Given the description of an element on the screen output the (x, y) to click on. 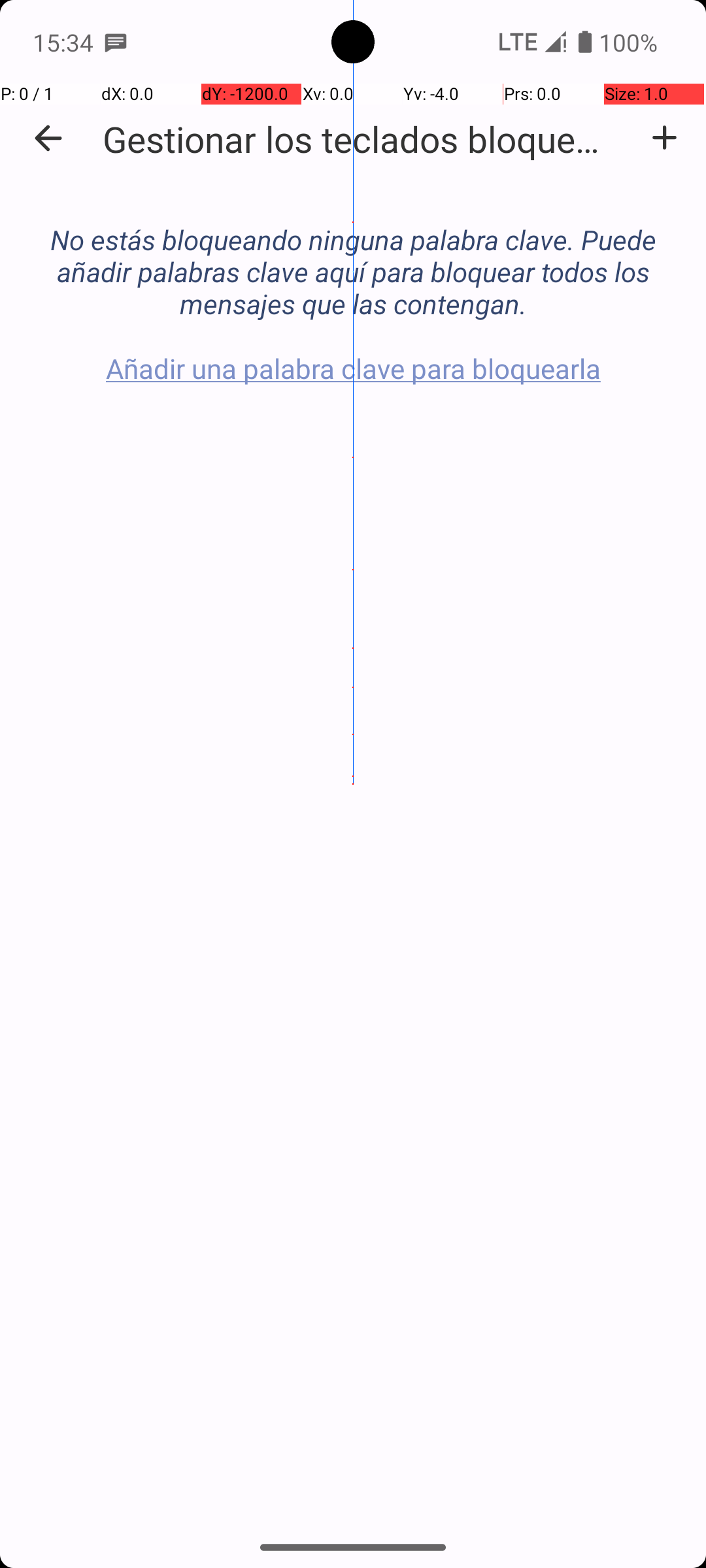
Gestionar los teclados bloqueados Element type: android.widget.TextView (359, 138)
Añadir una palabra clave para bloquearla Element type: android.widget.Button (664, 137)
No estás bloqueando ninguna palabra clave. Puede añadir palabras clave aquí para bloquear todos los mensajes que las contengan. Element type: android.widget.TextView (353, 257)
